Given the description of an element on the screen output the (x, y) to click on. 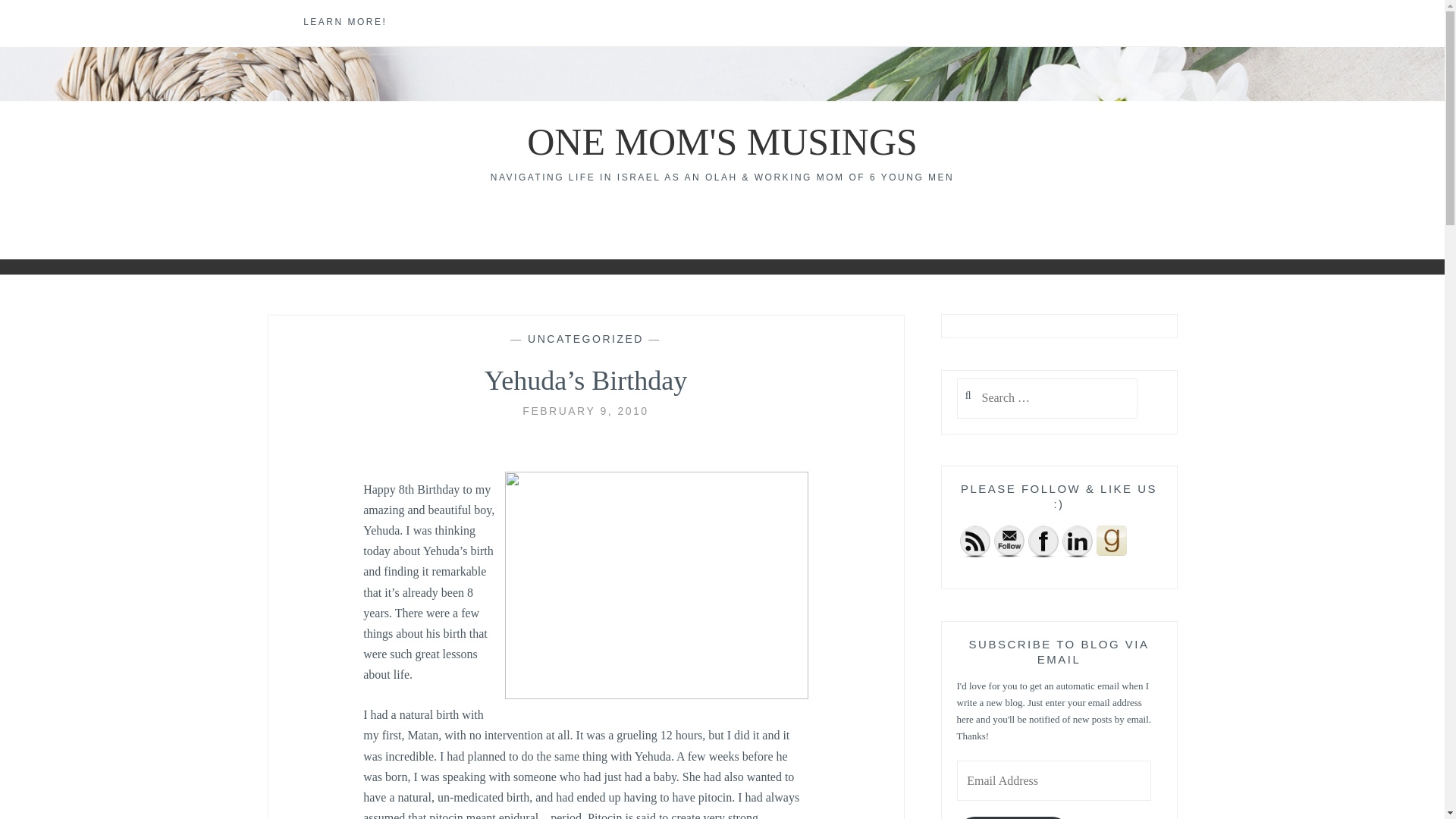
SUBSCRIBE (1013, 817)
RSS (974, 540)
Facebook (1042, 540)
UNCATEGORIZED (585, 338)
Search (42, 19)
Goodreads (1111, 540)
LinkedIn (1076, 540)
LEARN MORE! (344, 22)
Come Join the Fun! (1007, 540)
ONE MOM'S MUSINGS (722, 141)
